Given the description of an element on the screen output the (x, y) to click on. 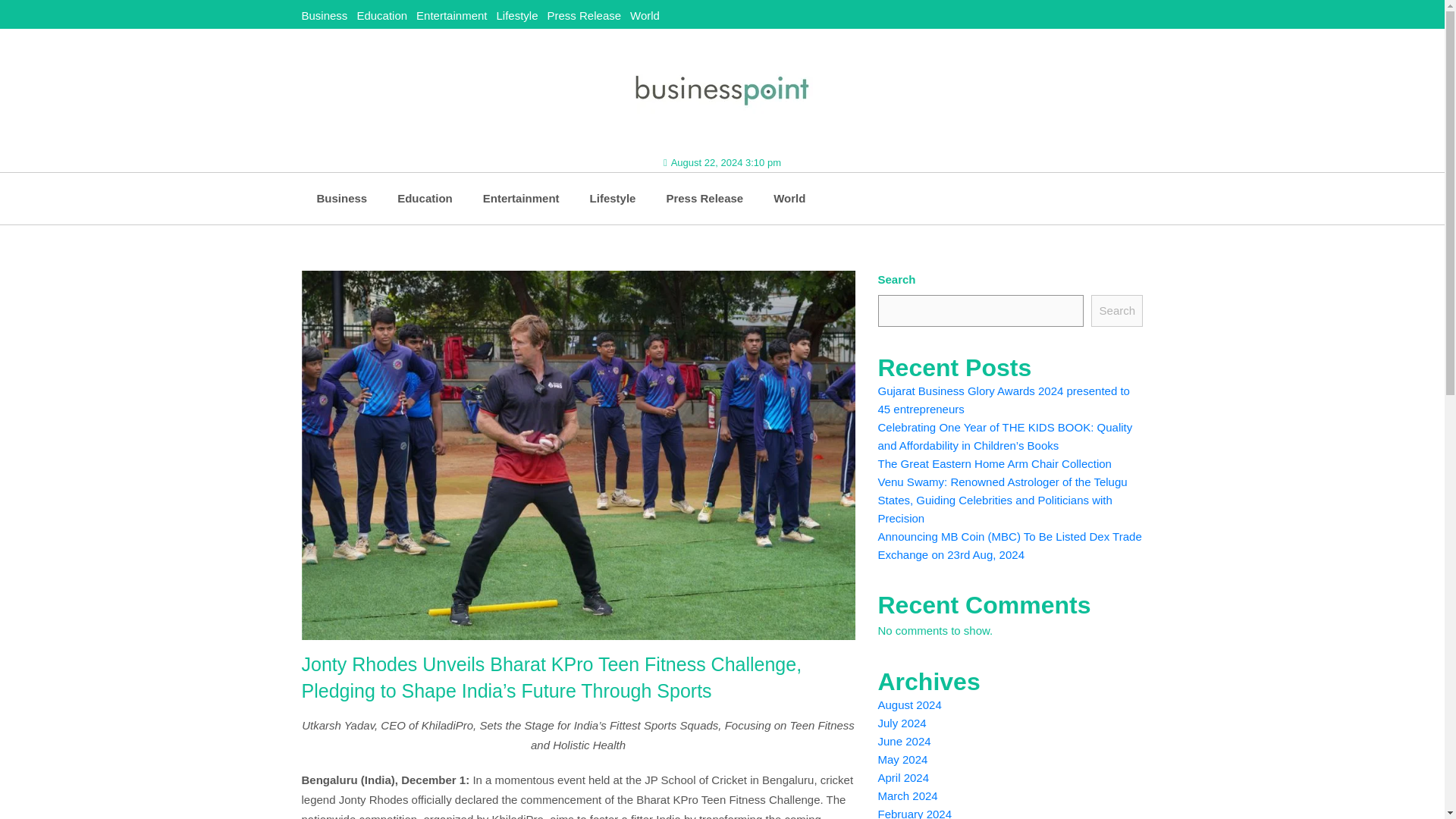
Lifestyle (516, 15)
Press Release (704, 198)
May 2024 (902, 758)
Press Release (584, 15)
Lifestyle (612, 198)
Business (341, 198)
Education (381, 15)
Entertainment (451, 15)
Entertainment (521, 198)
Search (1116, 310)
